Given the description of an element on the screen output the (x, y) to click on. 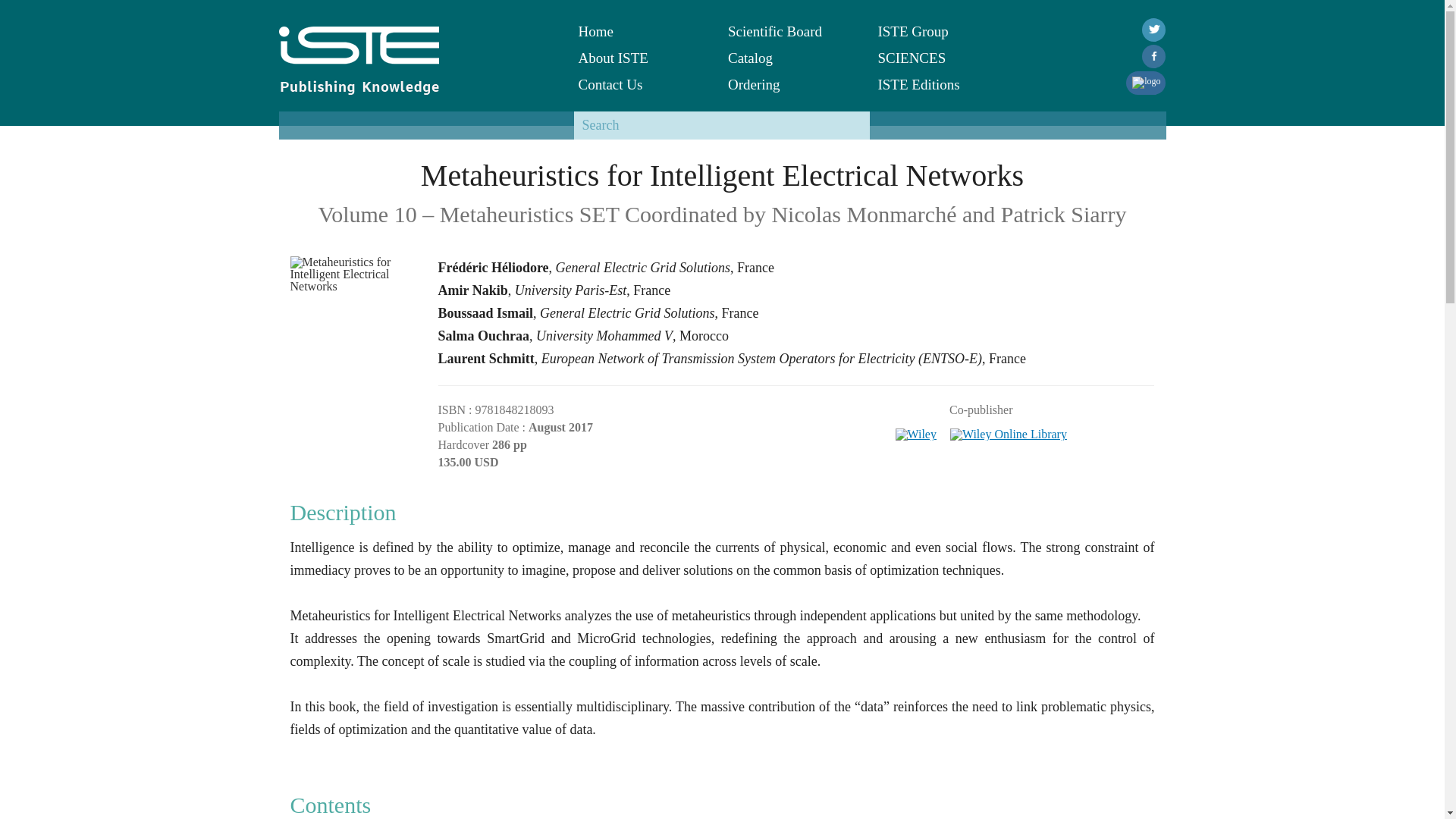
ISTE Editions (940, 84)
Catalog (791, 58)
About ISTE (641, 58)
Linked In (1145, 83)
About ISTE (641, 58)
Scientific Board (791, 31)
Wiley (915, 429)
Ordering (791, 84)
Wiley Online Library (1008, 429)
Home (641, 31)
SCIENCES (940, 58)
ISTE Group (940, 31)
ISTE Group (940, 31)
